Given the description of an element on the screen output the (x, y) to click on. 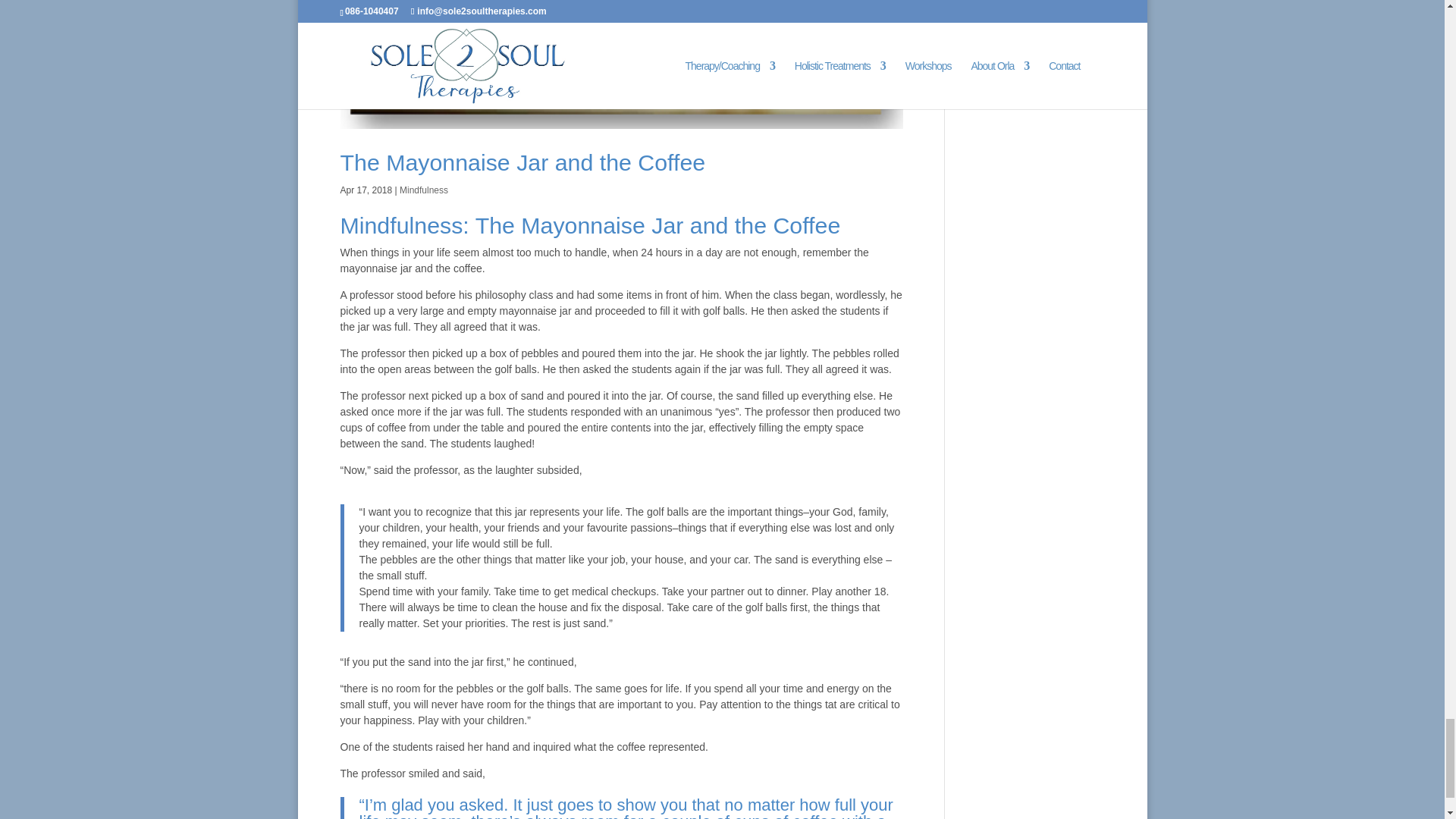
The Mayonnaise Jar and the Coffee (521, 162)
Mindfulness (423, 190)
